Given the description of an element on the screen output the (x, y) to click on. 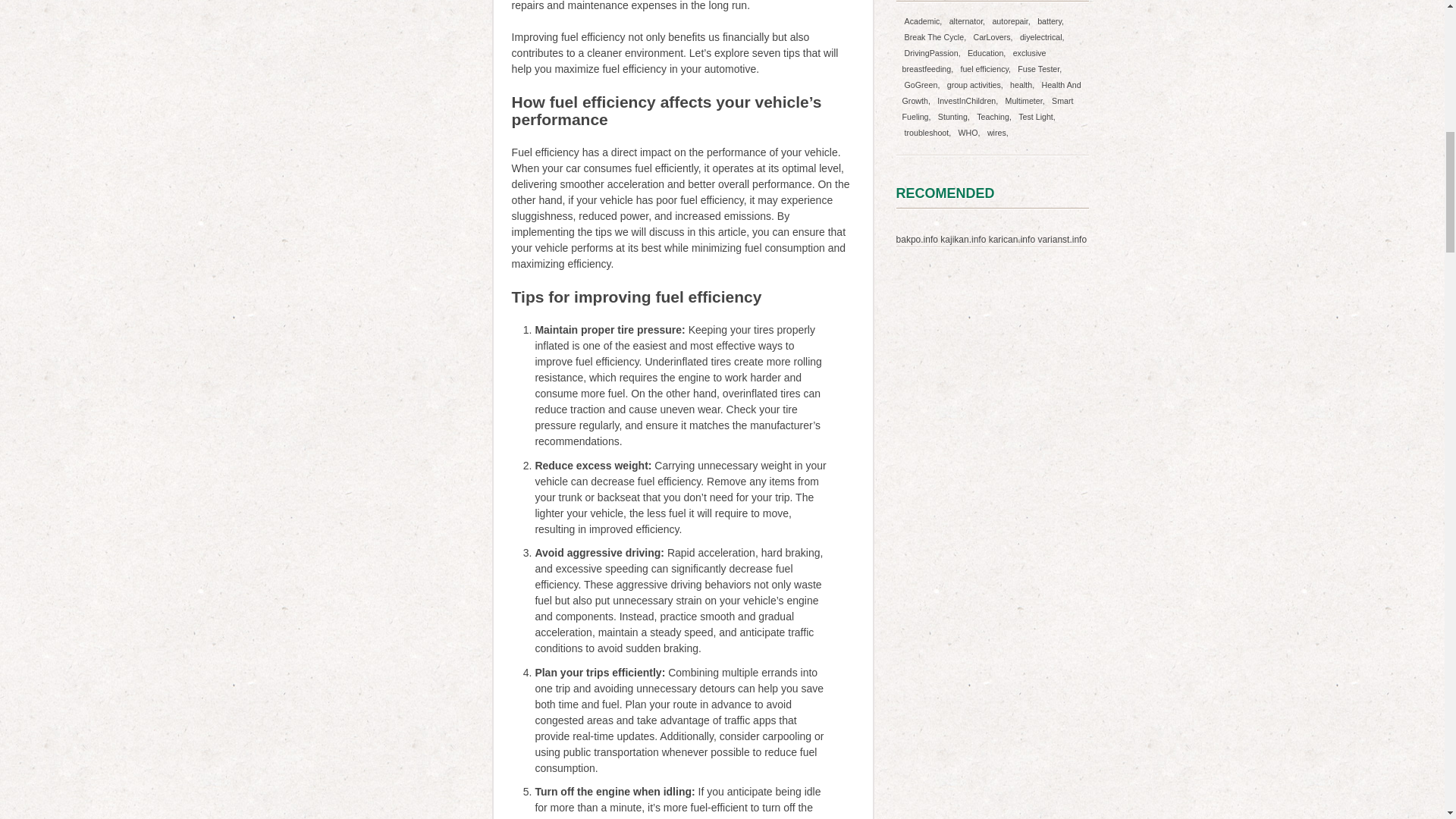
alternator (967, 20)
battery (1050, 20)
autorepair (1011, 20)
diyelectrical (1042, 37)
Academic (923, 20)
CarLovers (992, 37)
Break The Cycle (935, 37)
DrivingPassion (932, 52)
